Given the description of an element on the screen output the (x, y) to click on. 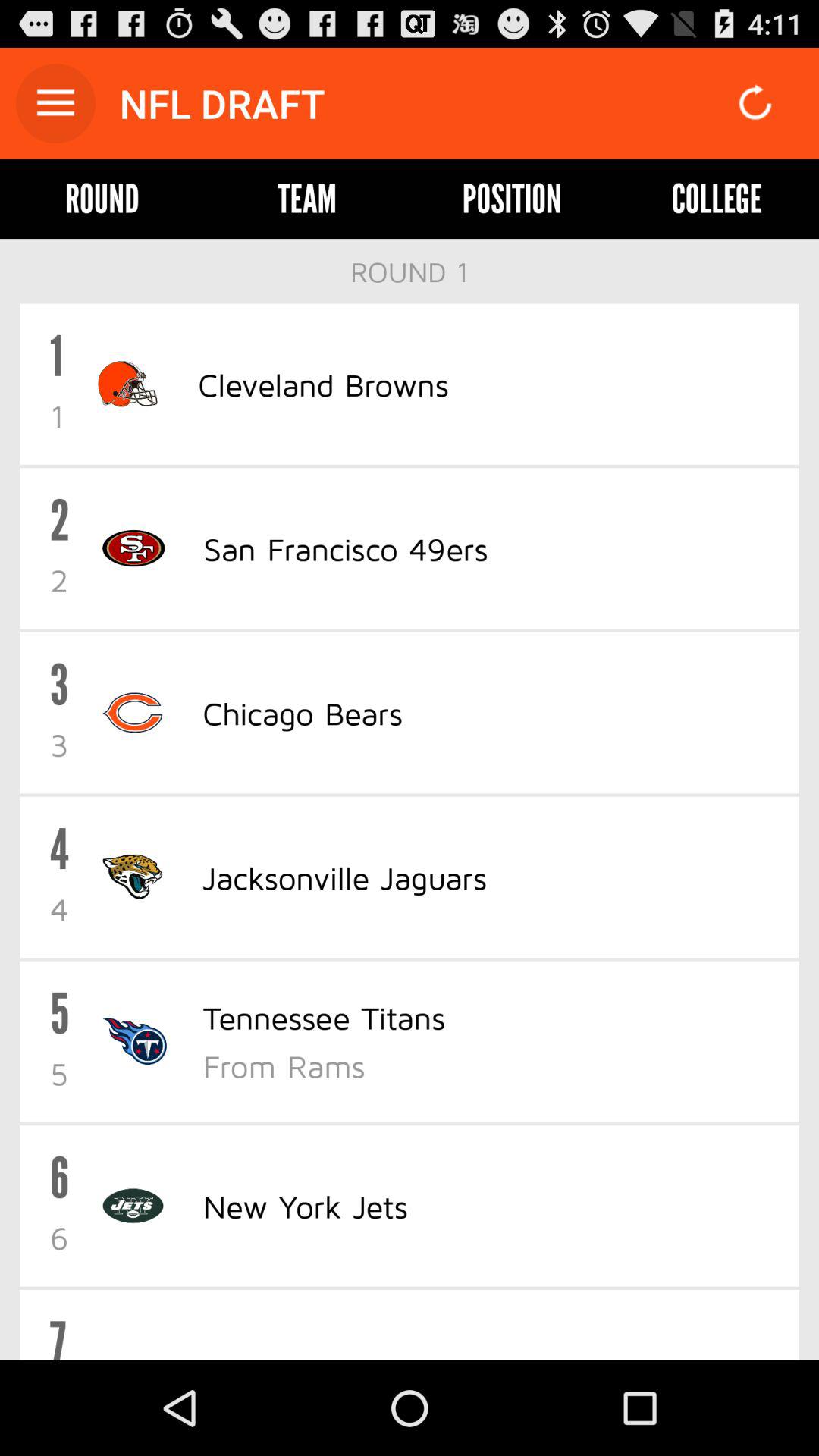
press icon to the left of college (511, 198)
